Given the description of an element on the screen output the (x, y) to click on. 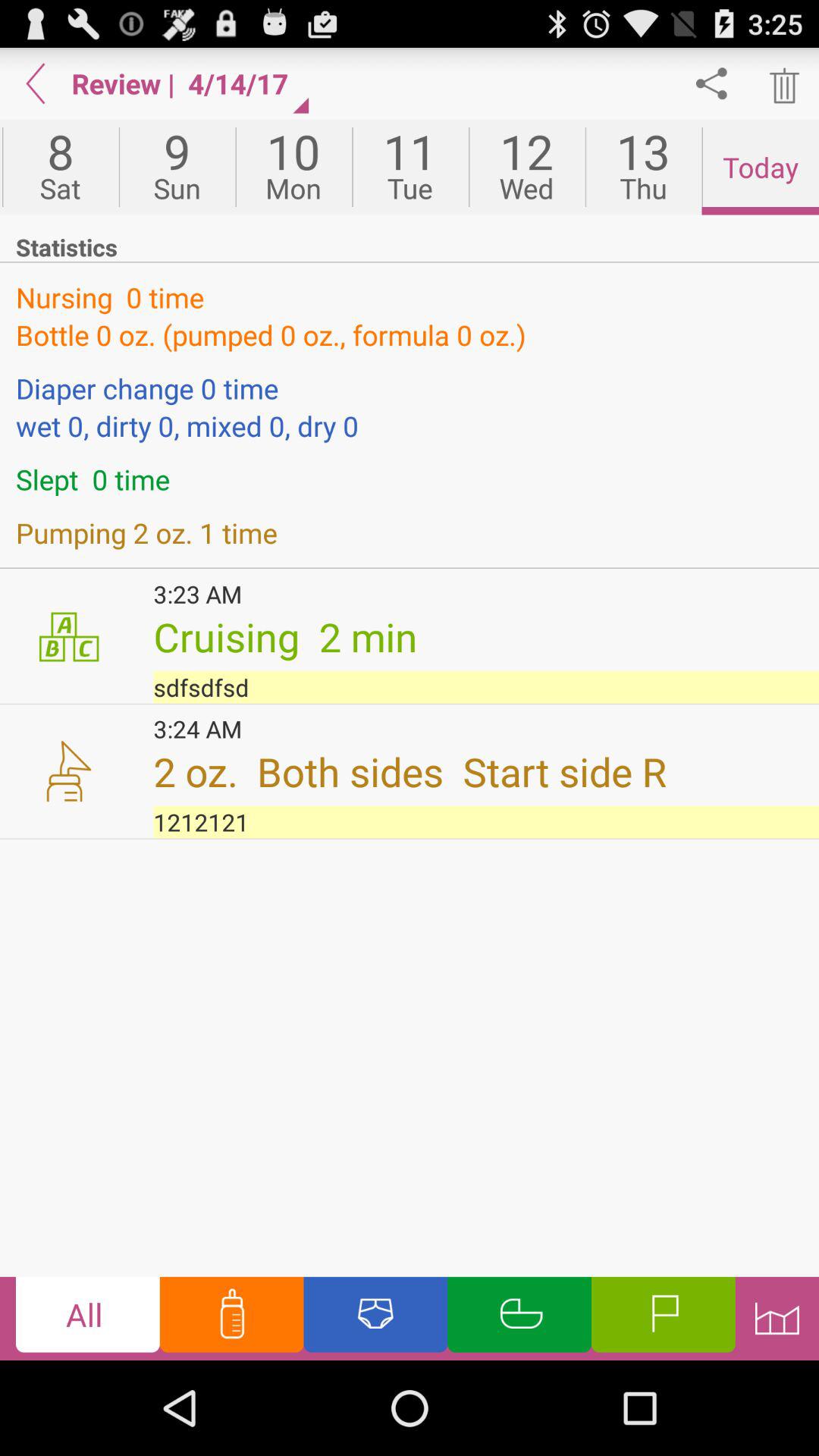
press item next to 11 (293, 166)
